Given the description of an element on the screen output the (x, y) to click on. 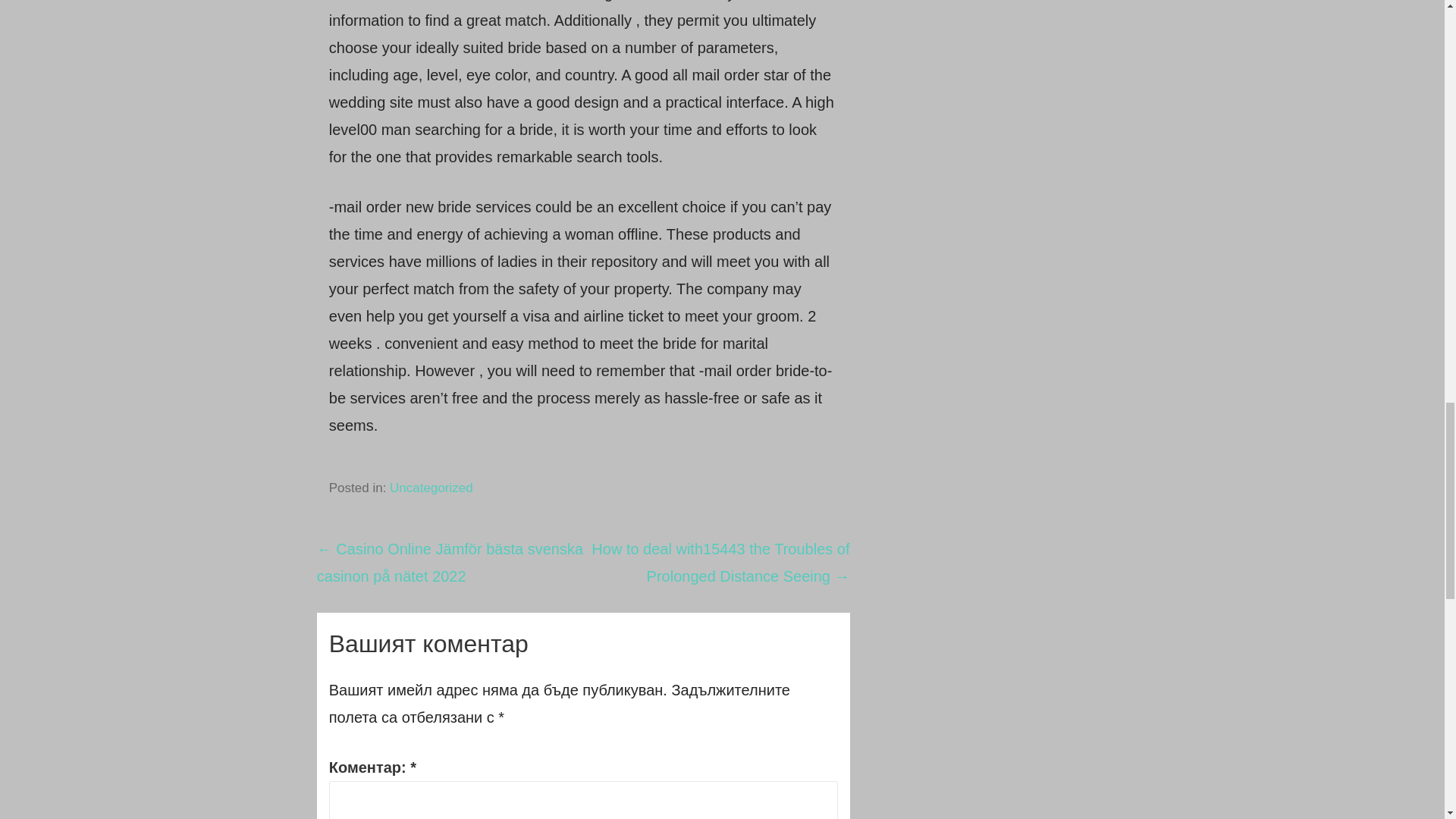
Uncategorized (431, 487)
